Given the description of an element on the screen output the (x, y) to click on. 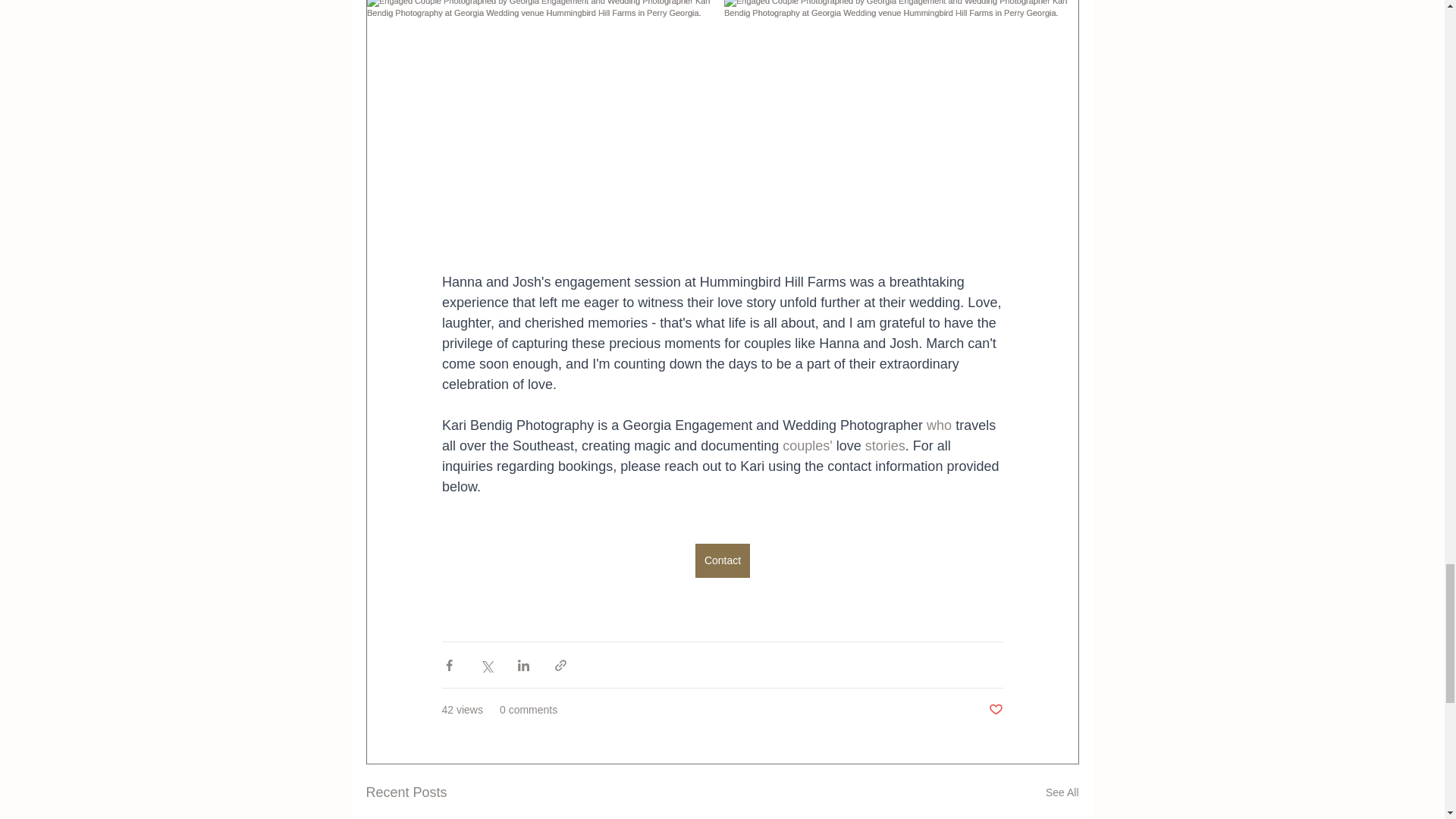
See All (1061, 792)
Contact (721, 560)
Post not marked as liked (995, 709)
